Given the description of an element on the screen output the (x, y) to click on. 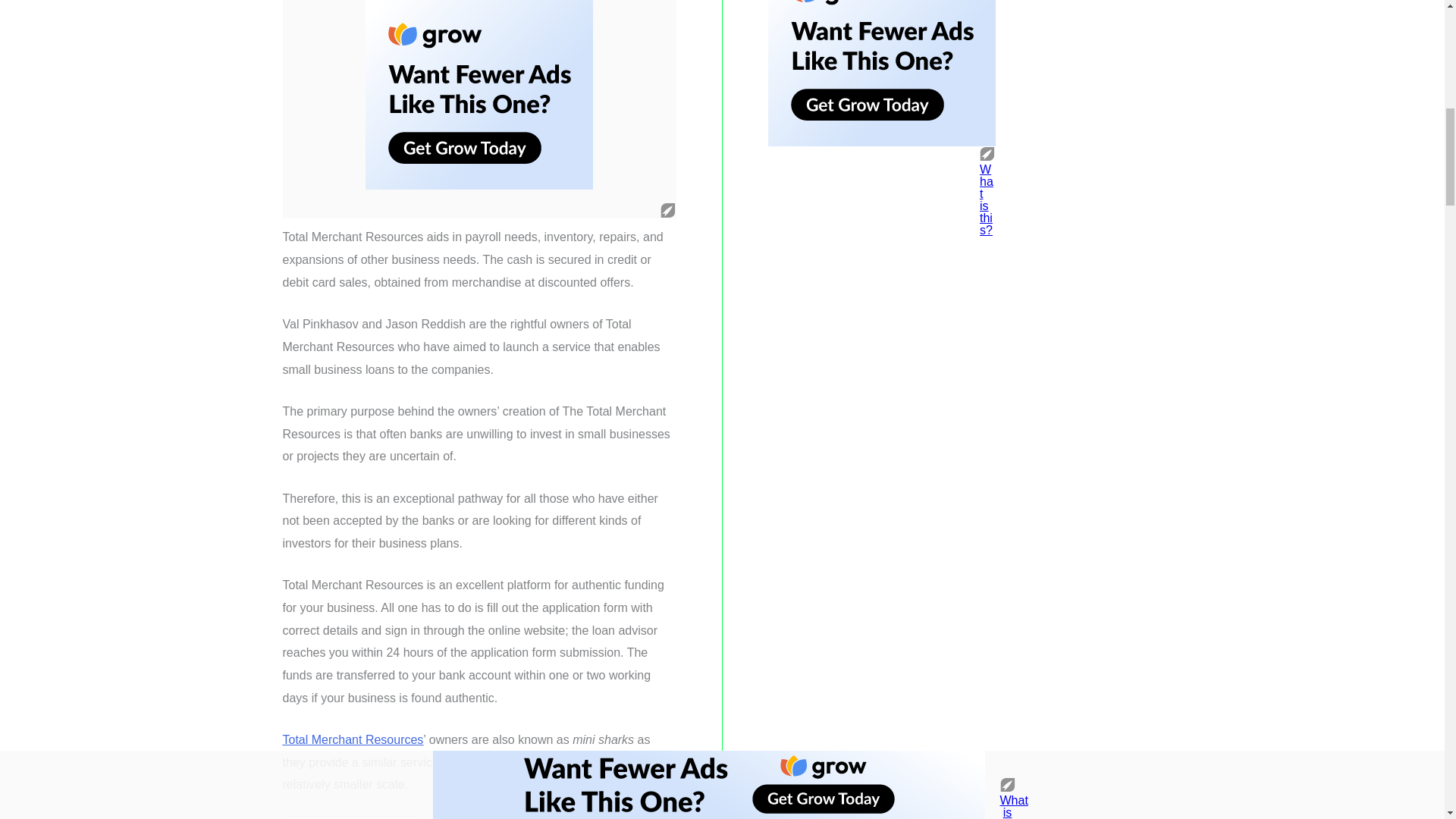
Total Merchant Resources (352, 739)
